Given the description of an element on the screen output the (x, y) to click on. 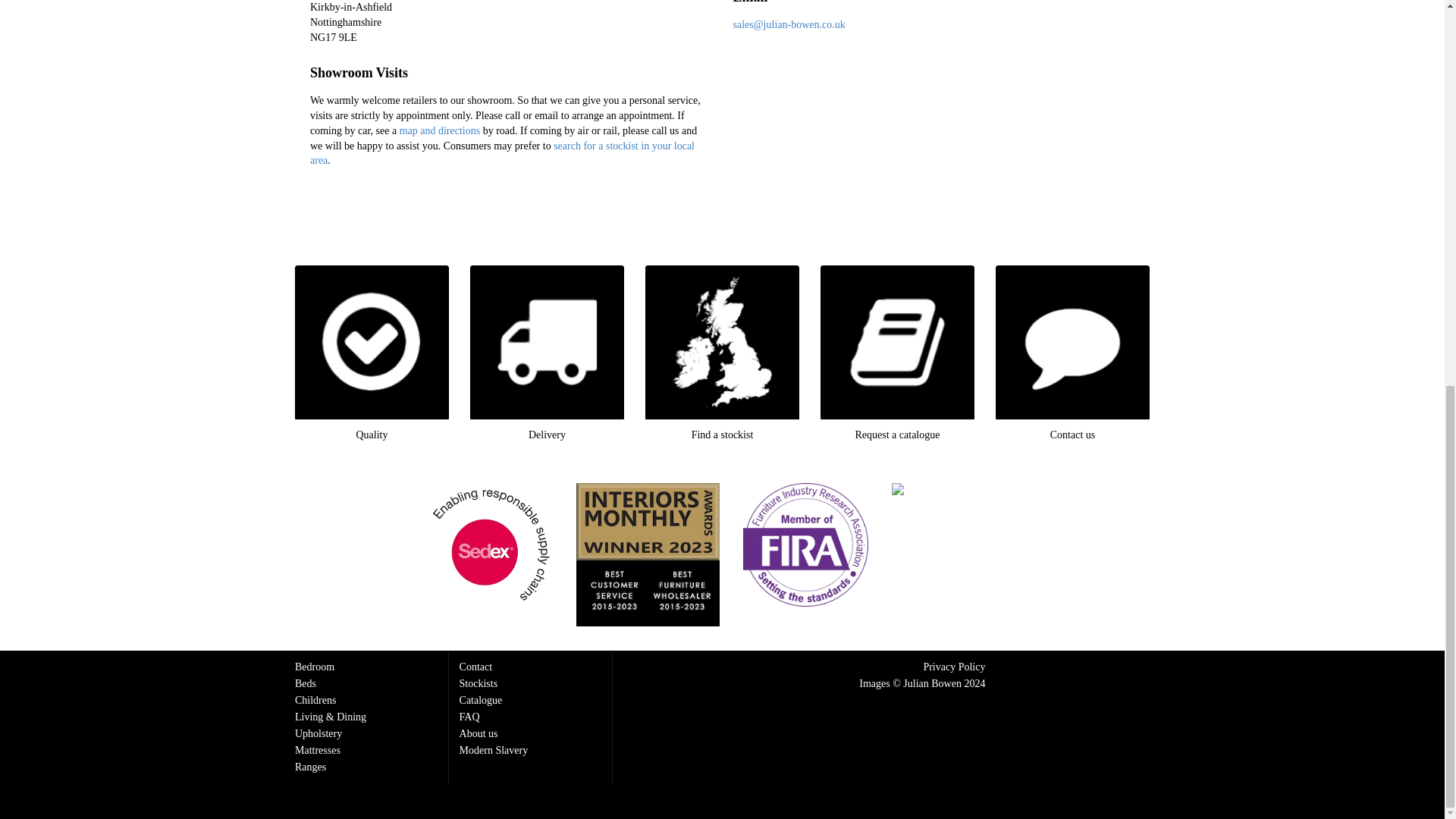
Email Julian Bowen (788, 24)
Julian Bowen stockists (502, 152)
Map and directions to Julian Bowen (439, 130)
